Given the description of an element on the screen output the (x, y) to click on. 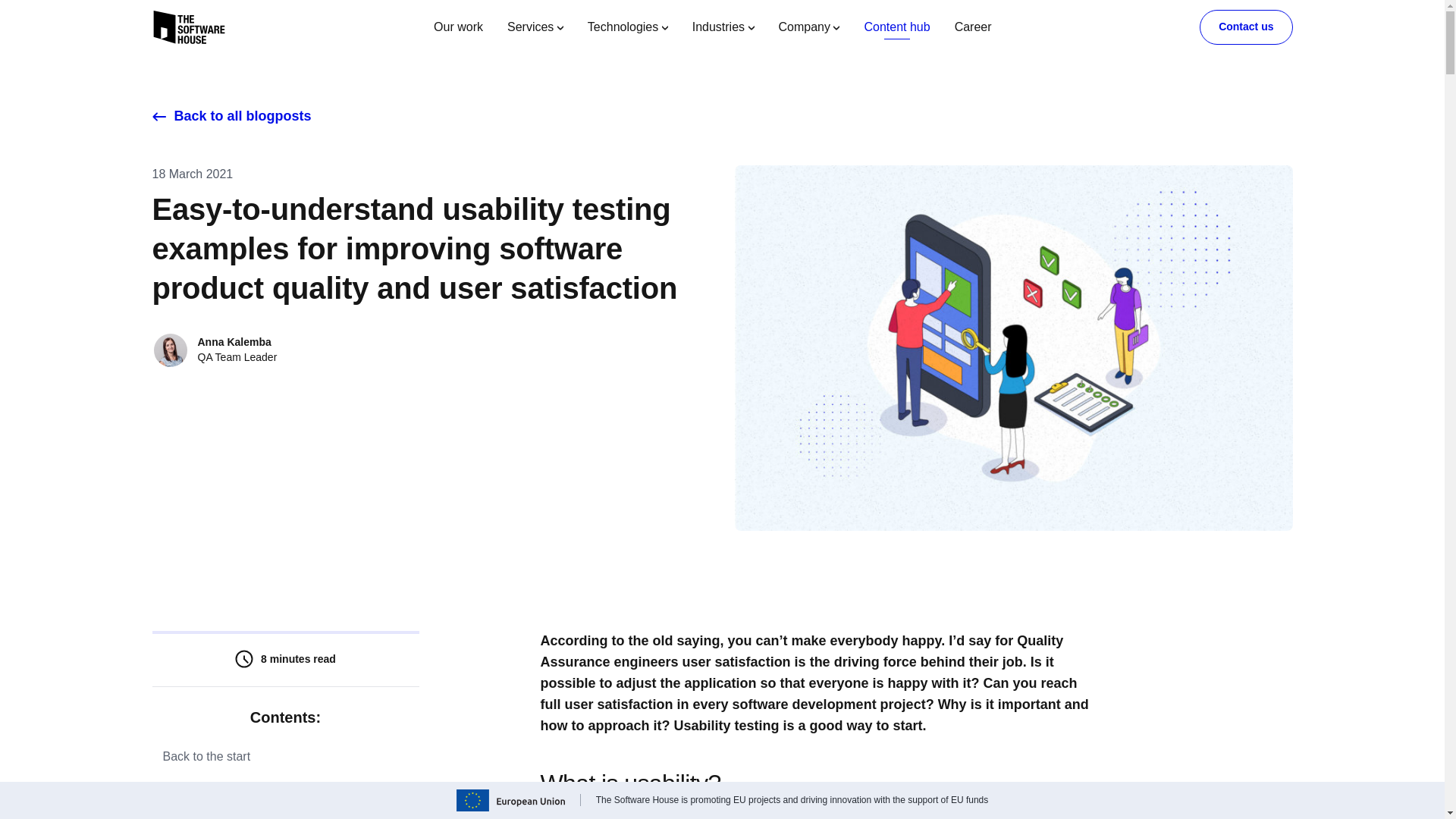
Services (535, 27)
Our work (458, 27)
The Software House (188, 27)
